Given the description of an element on the screen output the (x, y) to click on. 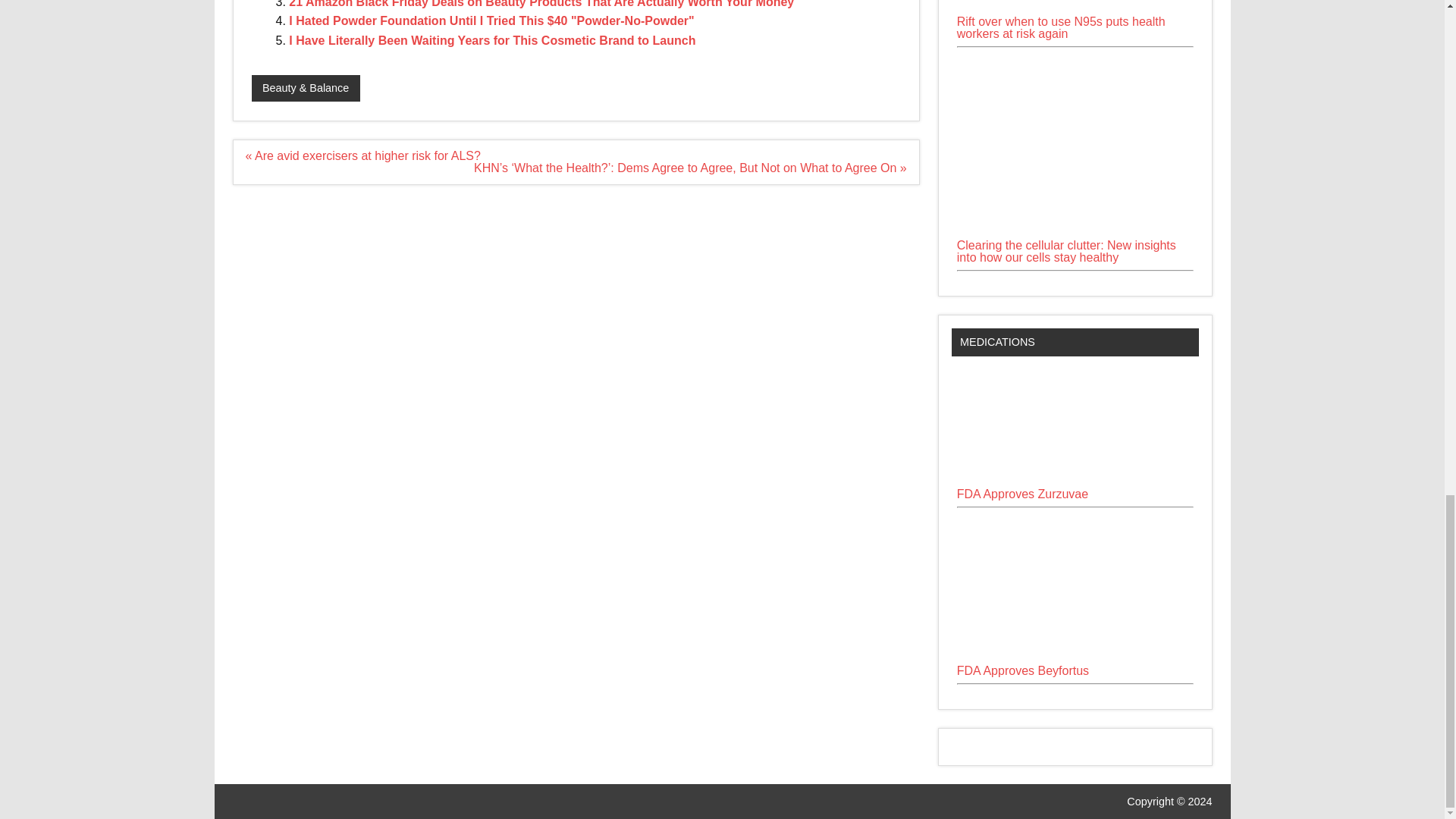
Rift over when to use N95s puts health workers at risk again (1074, 7)
Rift over when to use N95s puts health workers at risk again (1061, 27)
FDA Approves Zurzuvae (1021, 493)
Rift over when to use N95s puts health workers at risk again (1074, 9)
